Given the description of an element on the screen output the (x, y) to click on. 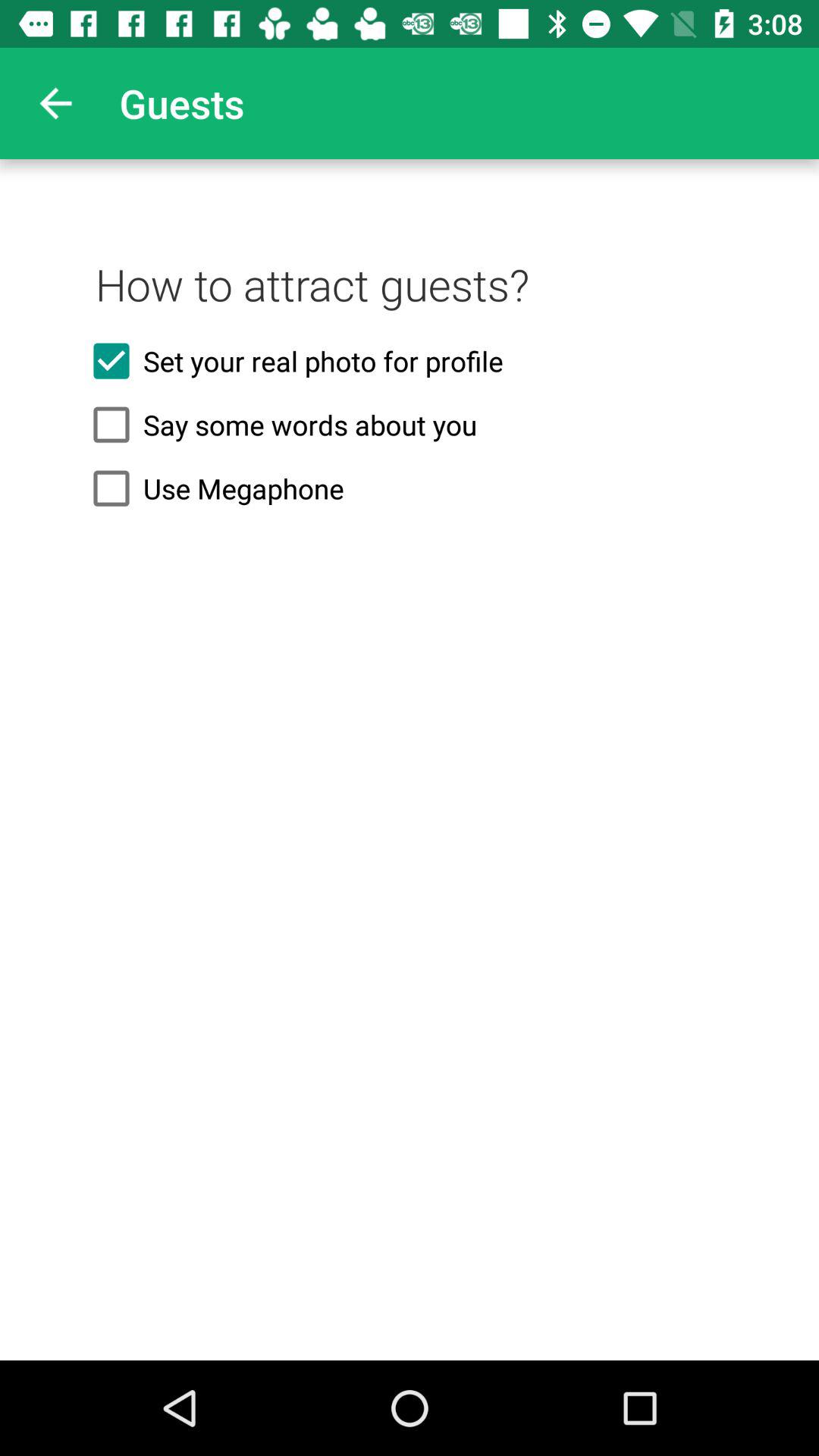
select say some words (409, 424)
